Given the description of an element on the screen output the (x, y) to click on. 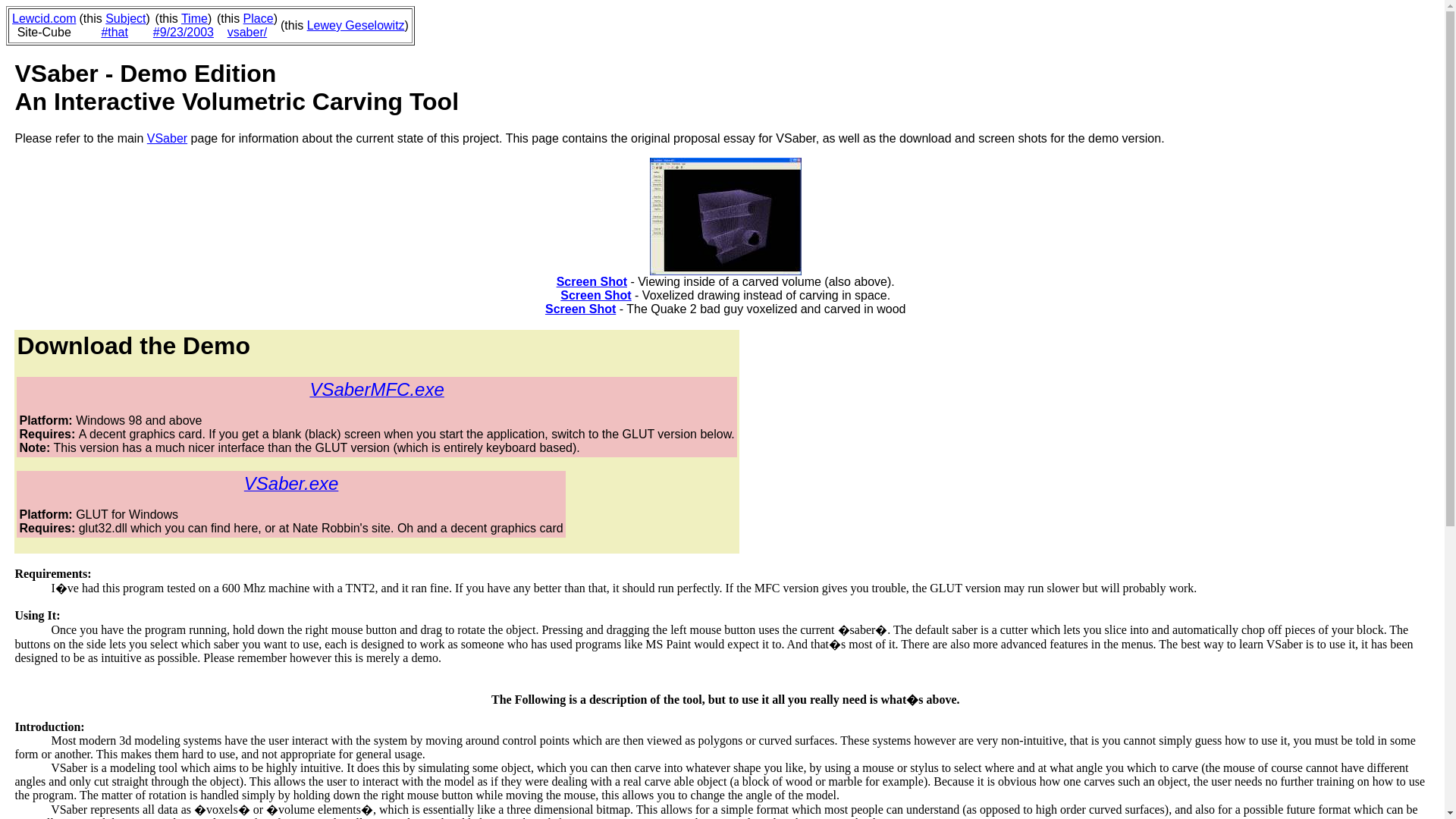
VSaber (167, 137)
VSaberMFC.exe (376, 391)
Subject (124, 18)
Screen Shot (579, 308)
Screen Shot (591, 281)
Lewey Geselowitz (355, 24)
Place (258, 18)
Screen Shot (595, 295)
VSaber.exe (291, 485)
Lewcid.com (43, 18)
